Given the description of an element on the screen output the (x, y) to click on. 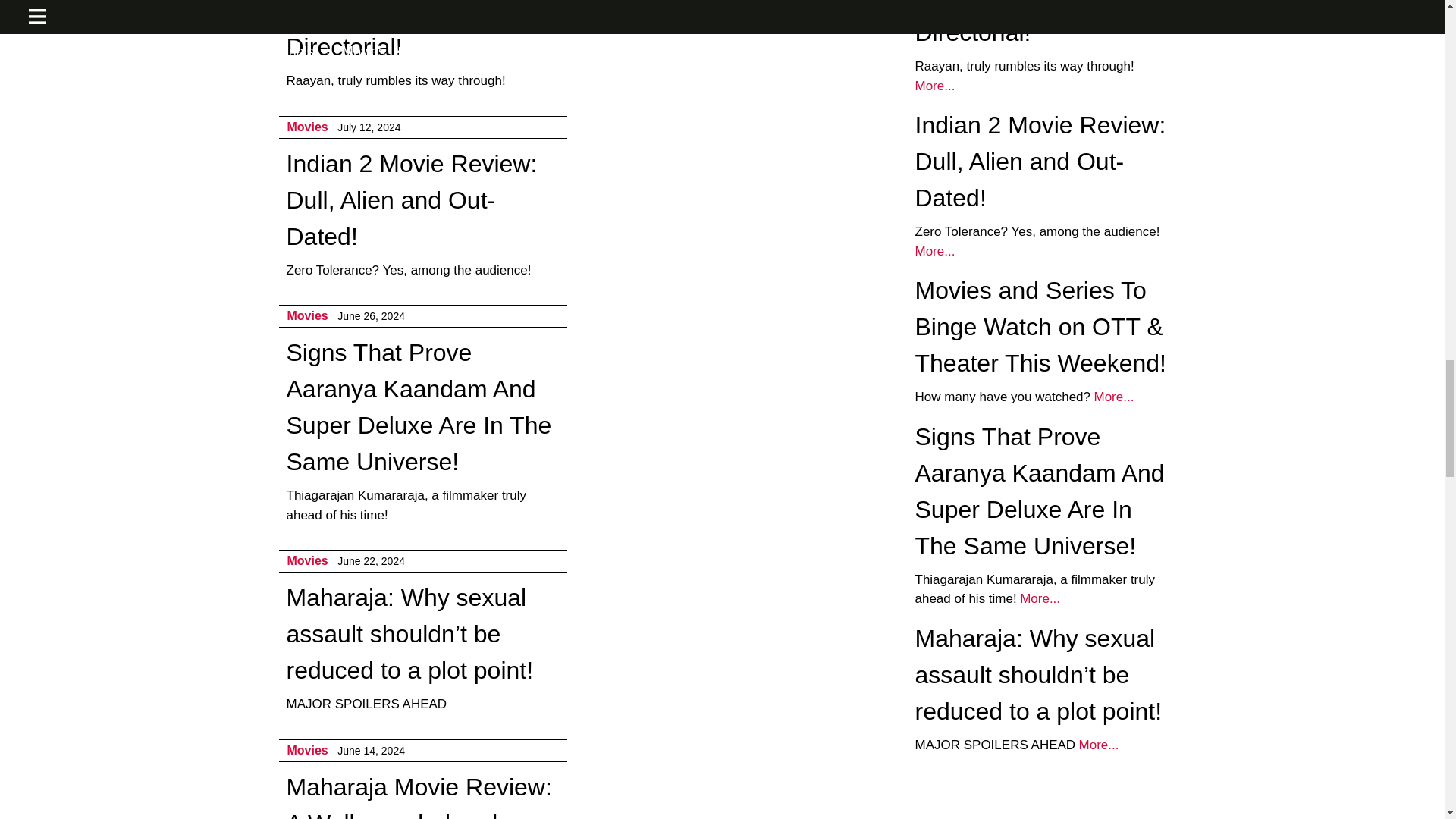
Movies (306, 315)
Movies (306, 126)
